Given the description of an element on the screen output the (x, y) to click on. 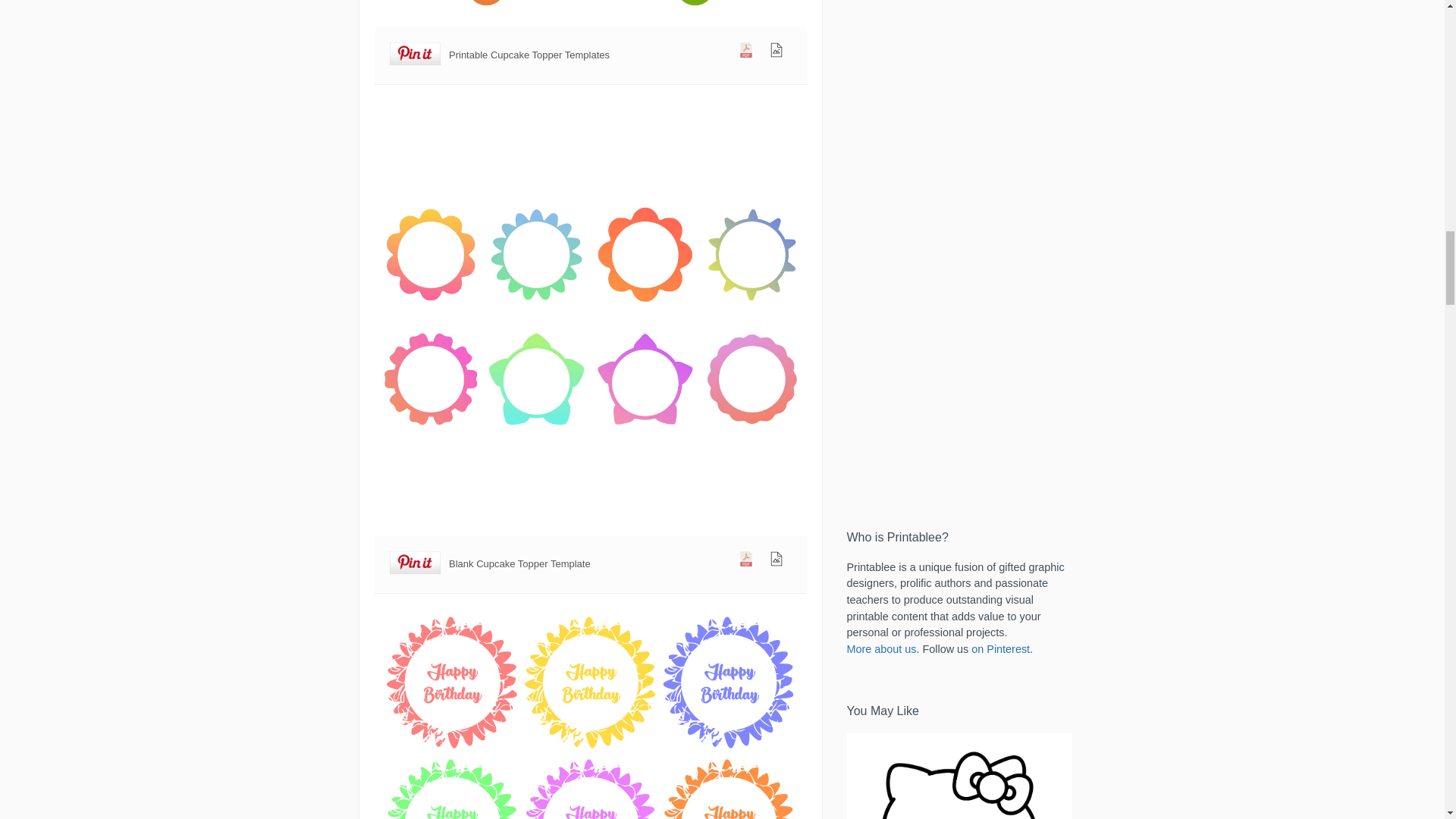
Printable Cupcake Topper Templates (590, 11)
Printable Birthday Cupcake Topper Templates (590, 714)
Pin it! (415, 563)
Pin it! (415, 54)
